Given the description of an element on the screen output the (x, y) to click on. 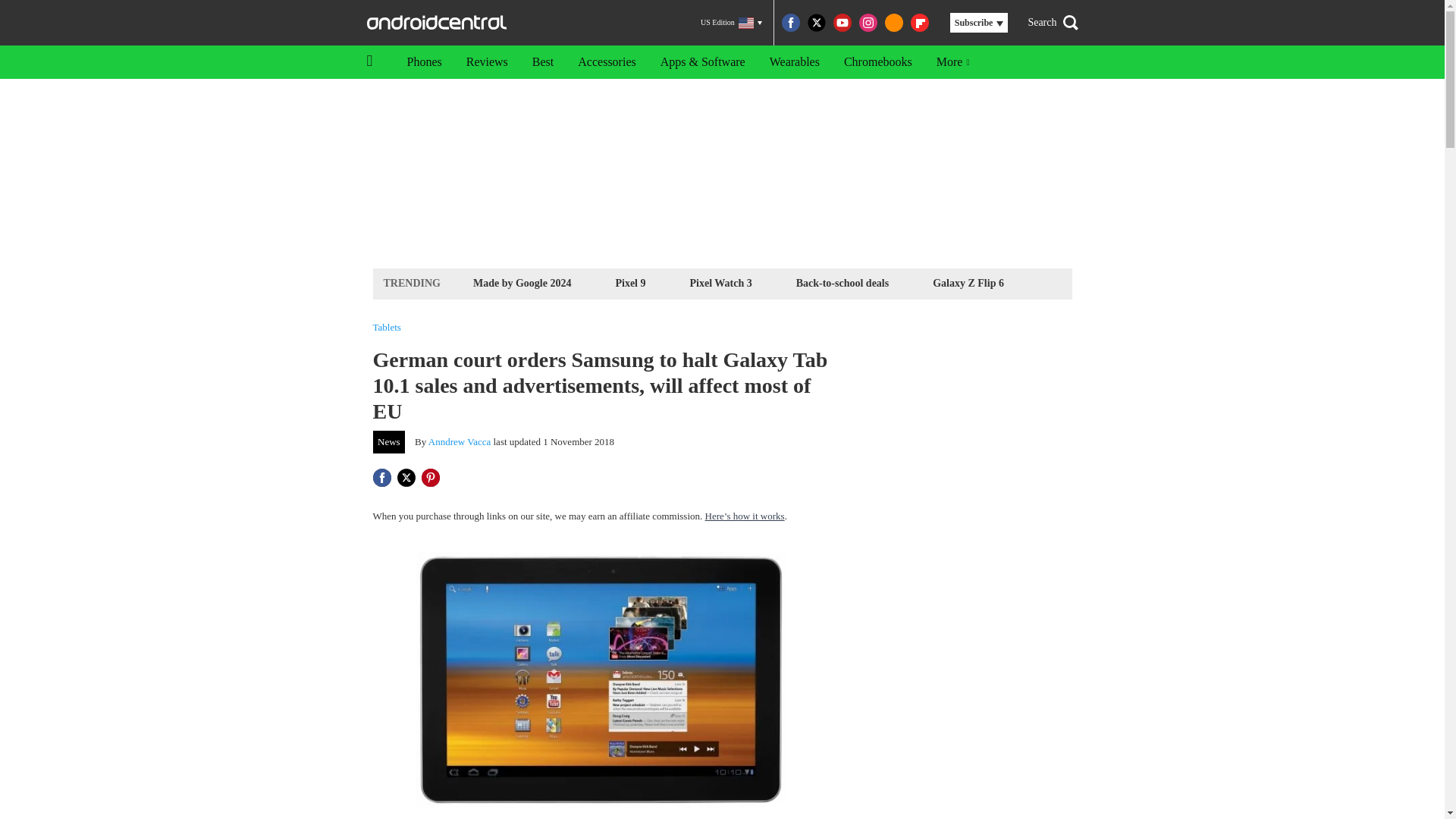
Chromebooks (877, 61)
Wearables (794, 61)
Reviews (486, 61)
News (389, 441)
US Edition (731, 22)
Pixel Watch 3 (720, 282)
Pixel 9 (630, 282)
Accessories (606, 61)
Phones (423, 61)
Galaxy Z Flip 6 (968, 282)
